Given the description of an element on the screen output the (x, y) to click on. 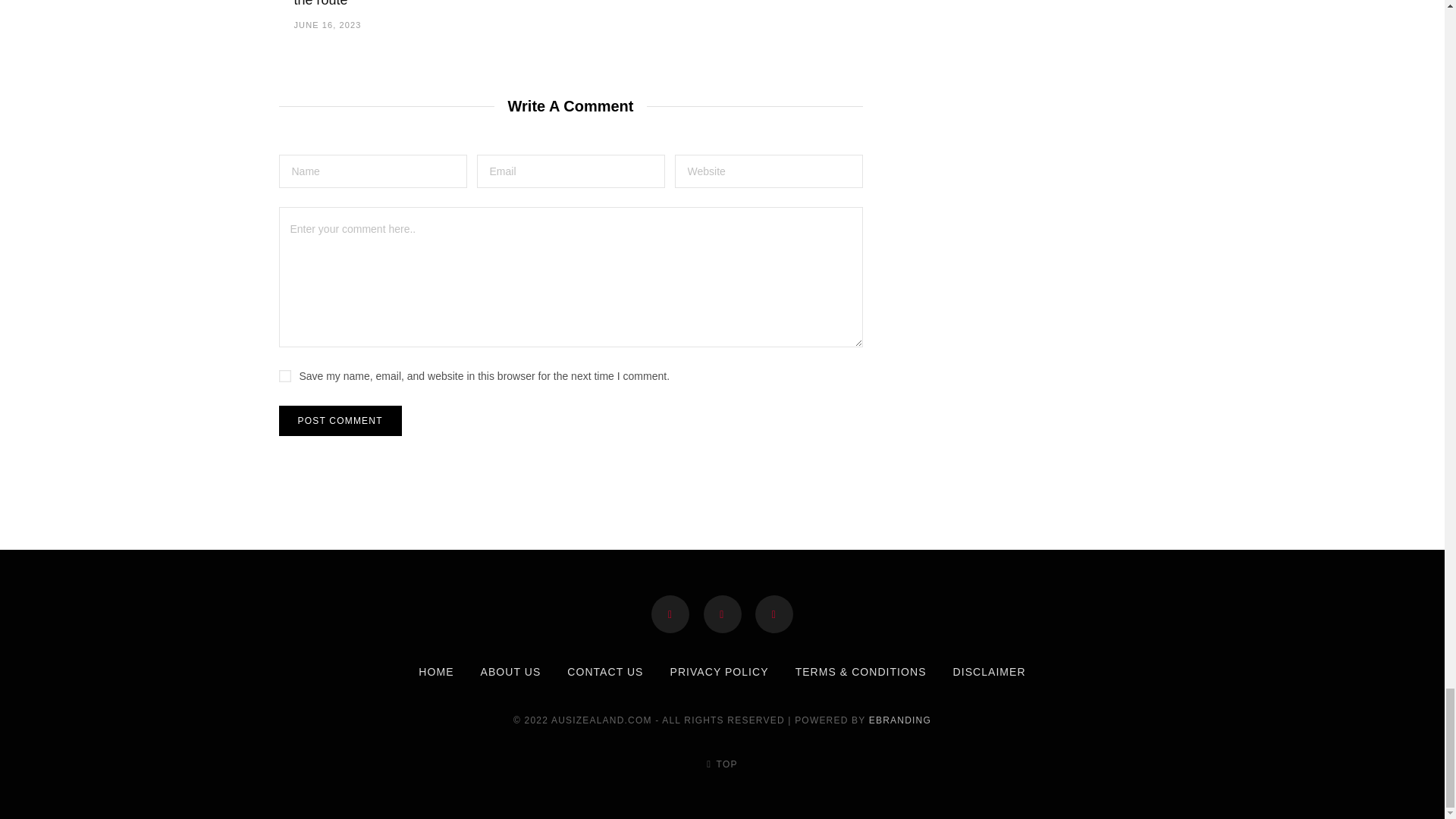
Post Comment (340, 420)
yes (285, 376)
